Given the description of an element on the screen output the (x, y) to click on. 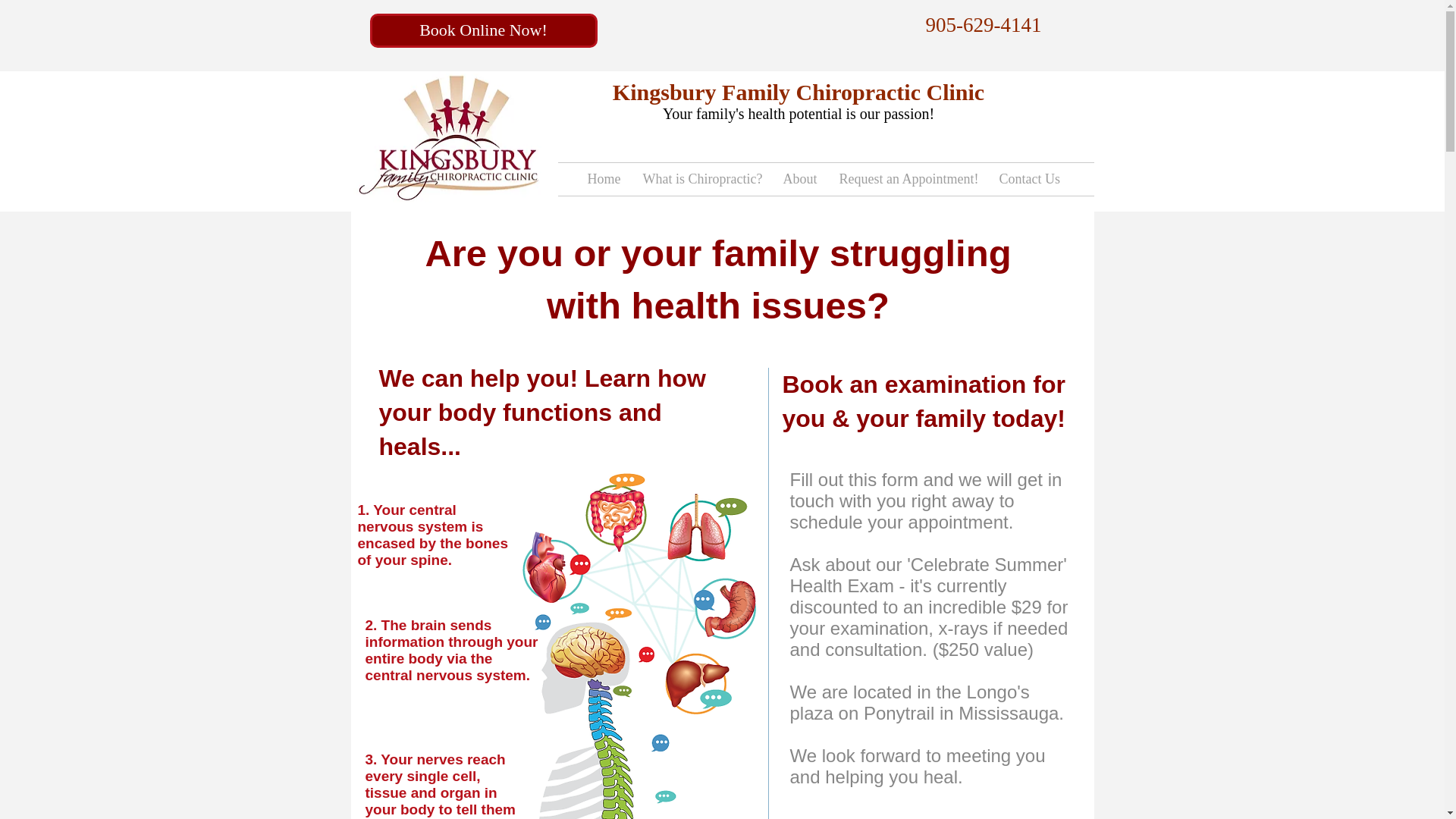
What is Chiropractic? (700, 178)
Home (603, 178)
About (799, 178)
Request an Appointment! (908, 178)
Book Online Now! (482, 30)
Contact Us (1027, 178)
